Given the description of an element on the screen output the (x, y) to click on. 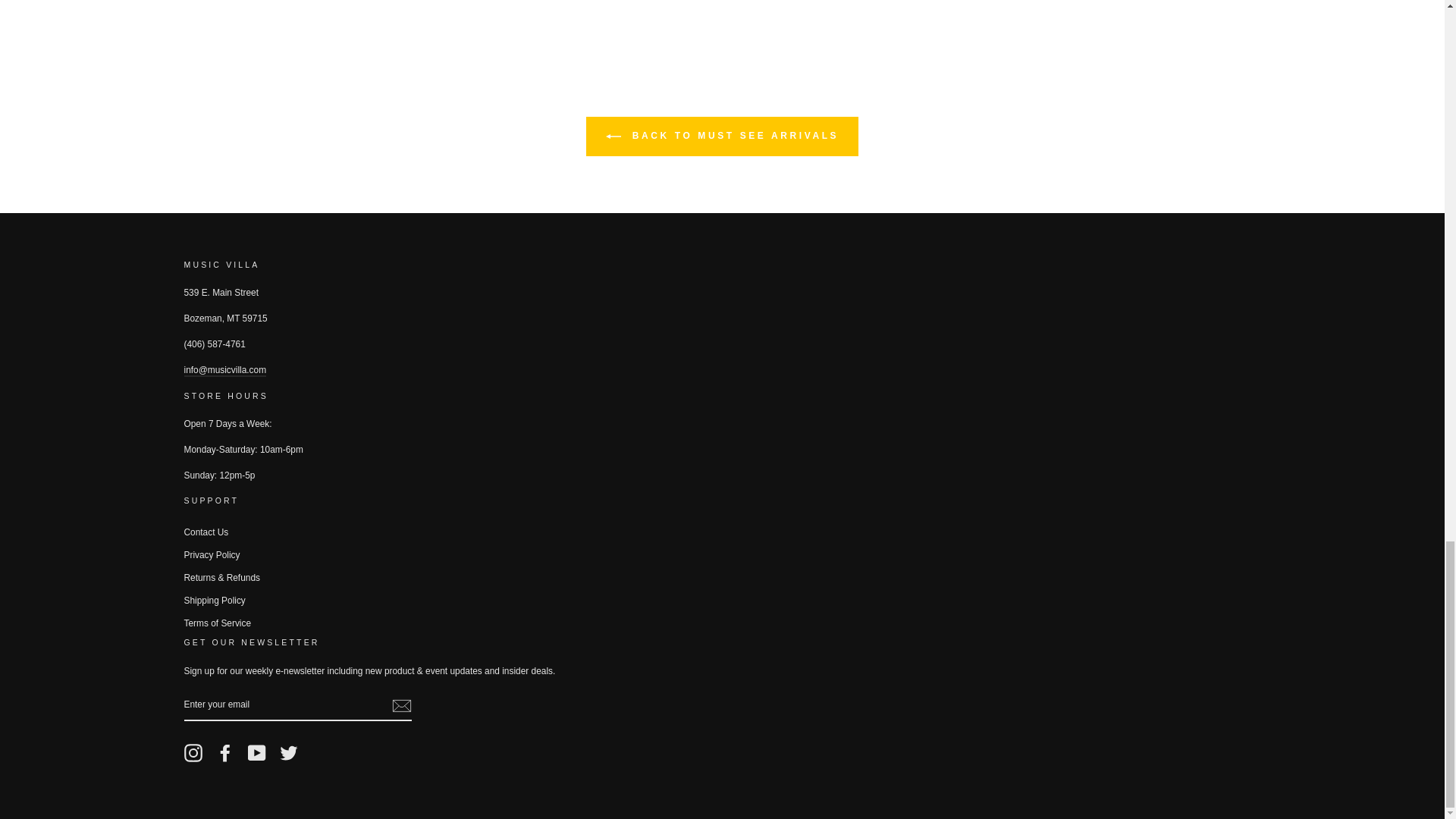
Music Villa MT on Instagram (192, 752)
GET IN TOUCH (224, 370)
Music Villa MT on Facebook (224, 752)
Music Villa MT on Twitter (288, 752)
Music Villa MT on YouTube (256, 752)
